Given the description of an element on the screen output the (x, y) to click on. 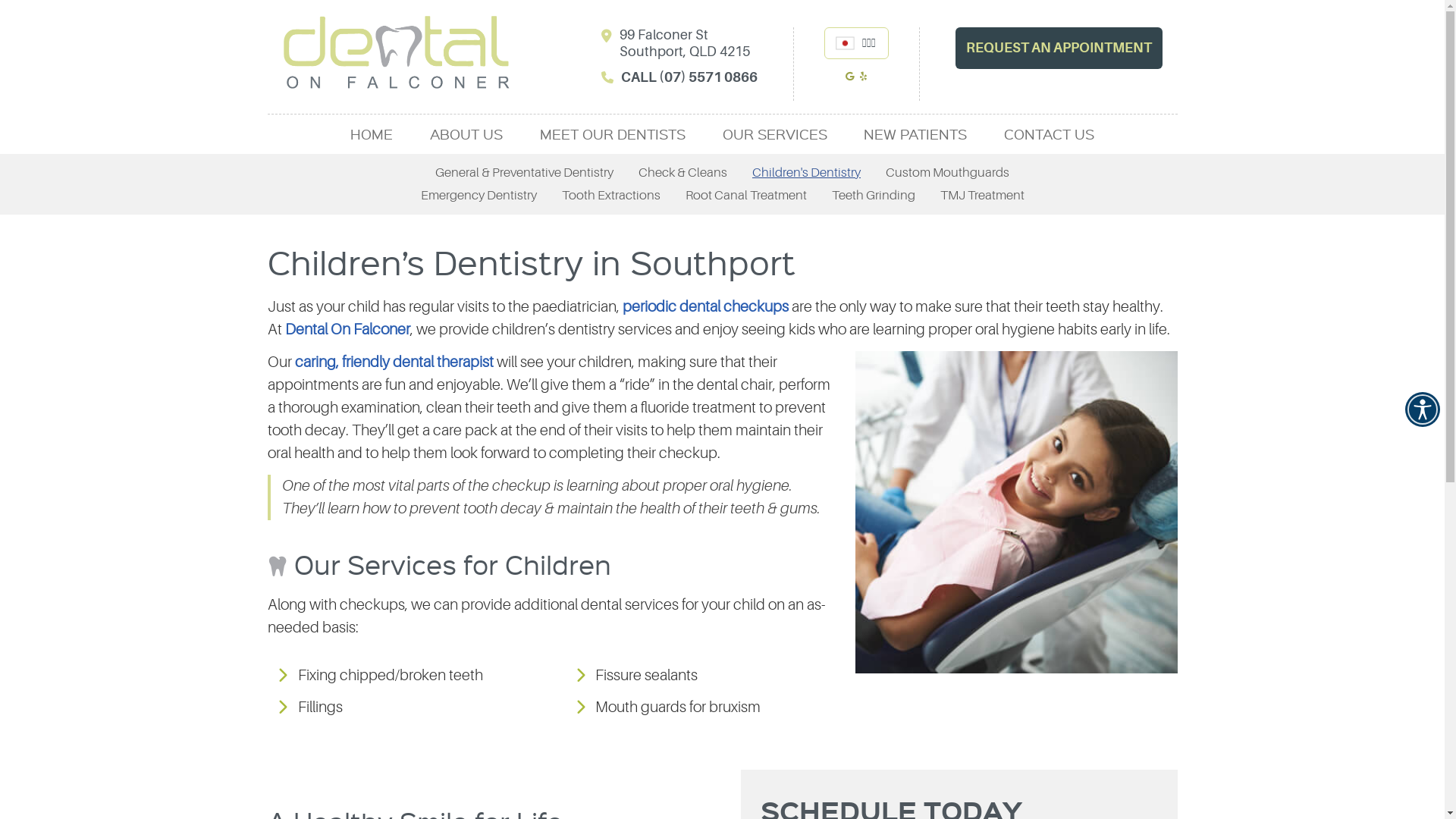
Root Canal Treatment Element type: text (745, 195)
Check & Cleans Element type: text (682, 172)
Dental On Falconer Element type: text (395, 83)
caring, friendly dental therapist Element type: text (393, 361)
Tooth Extractions Element type: text (610, 195)
Dental On Falconer Element type: text (347, 329)
Children's Dentistry Element type: text (806, 172)
Custom Mouthguards Element type: text (947, 172)
HOME Element type: text (371, 134)
REQUEST AN APPOINTMENT Element type: text (1058, 48)
General & Preventative Dentistry Element type: text (523, 172)
NEW PATIENTS Element type: text (915, 134)
google icon link Element type: text (851, 79)
ABOUT US Element type: text (466, 134)
TMJ Treatment Element type: text (981, 195)
Teeth Grinding Element type: text (873, 195)
Emergency Dentistry Element type: text (478, 195)
CONTACT US Element type: text (1048, 134)
MEET OUR DENTISTS Element type: text (612, 134)
periodic dental checkups Element type: text (704, 306)
OUR SERVICES Element type: text (774, 134)
yelp icon link Element type: text (863, 79)
